Given the description of an element on the screen output the (x, y) to click on. 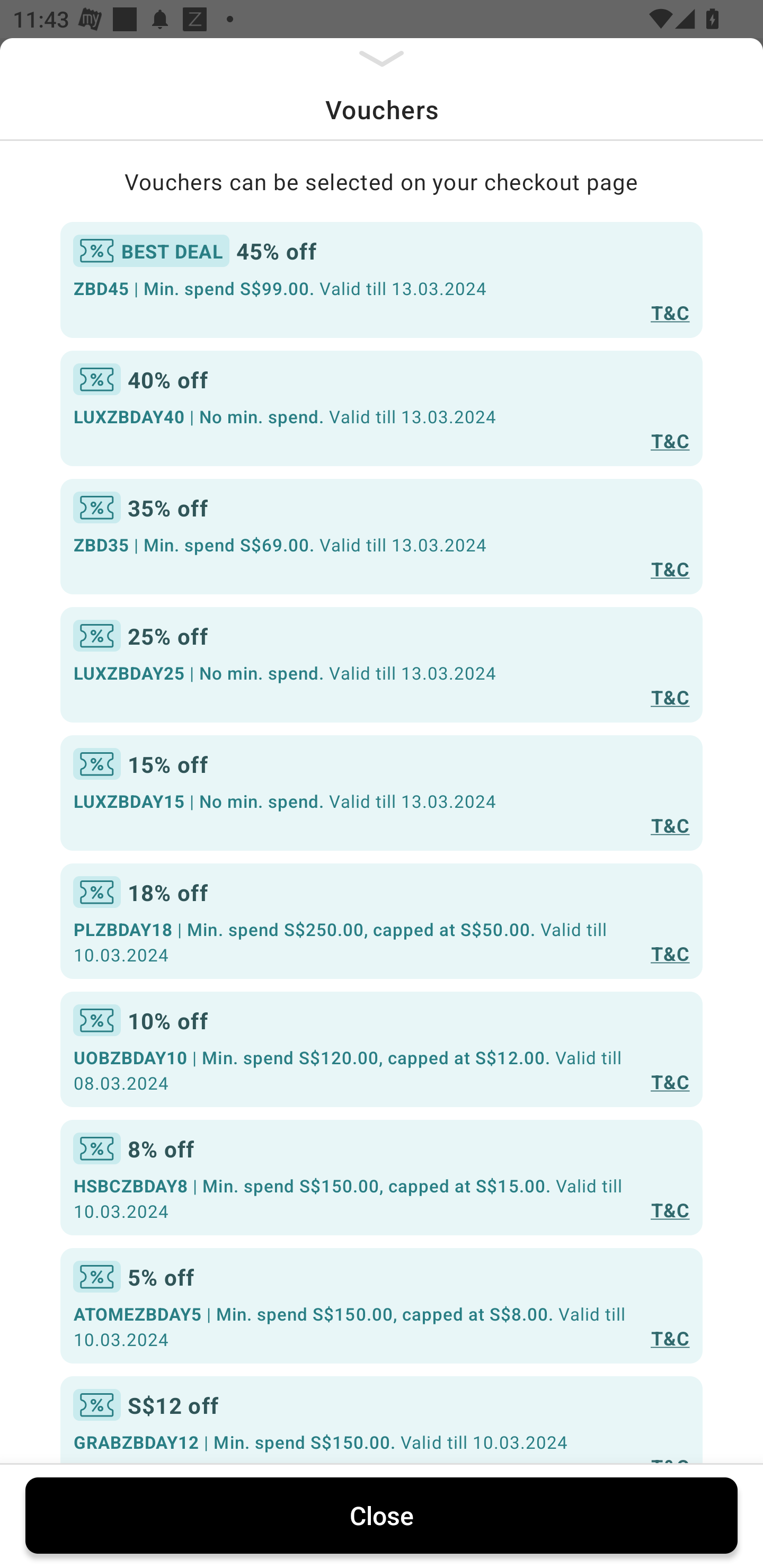
T&C (669, 311)
T&C (669, 440)
T&C (669, 568)
T&C (669, 696)
T&C (669, 824)
T&C (669, 952)
T&C (669, 1080)
T&C (669, 1209)
T&C (669, 1337)
Close (381, 1515)
